Given the description of an element on the screen output the (x, y) to click on. 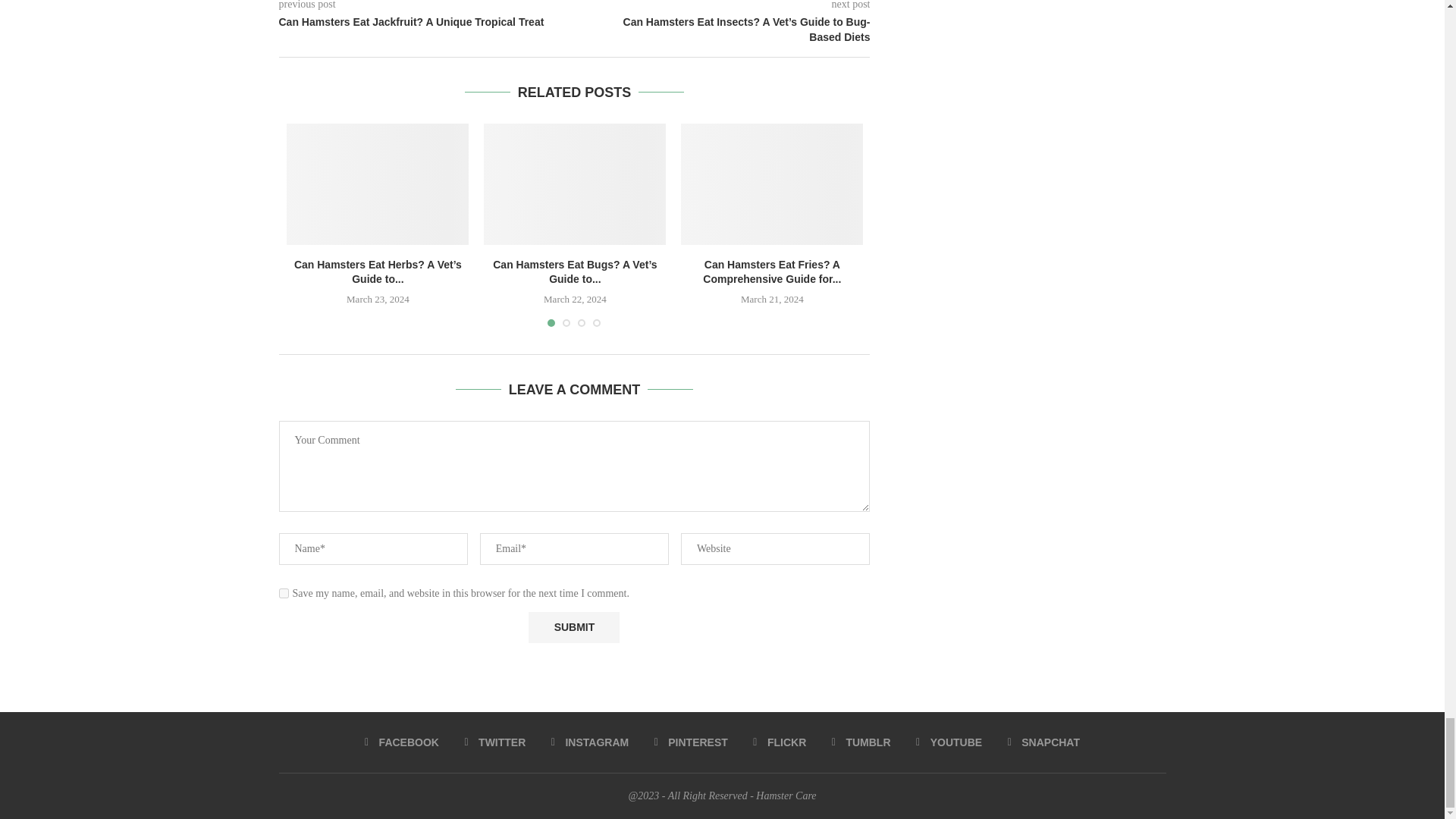
yes (283, 593)
Submit (574, 626)
